Given the description of an element on the screen output the (x, y) to click on. 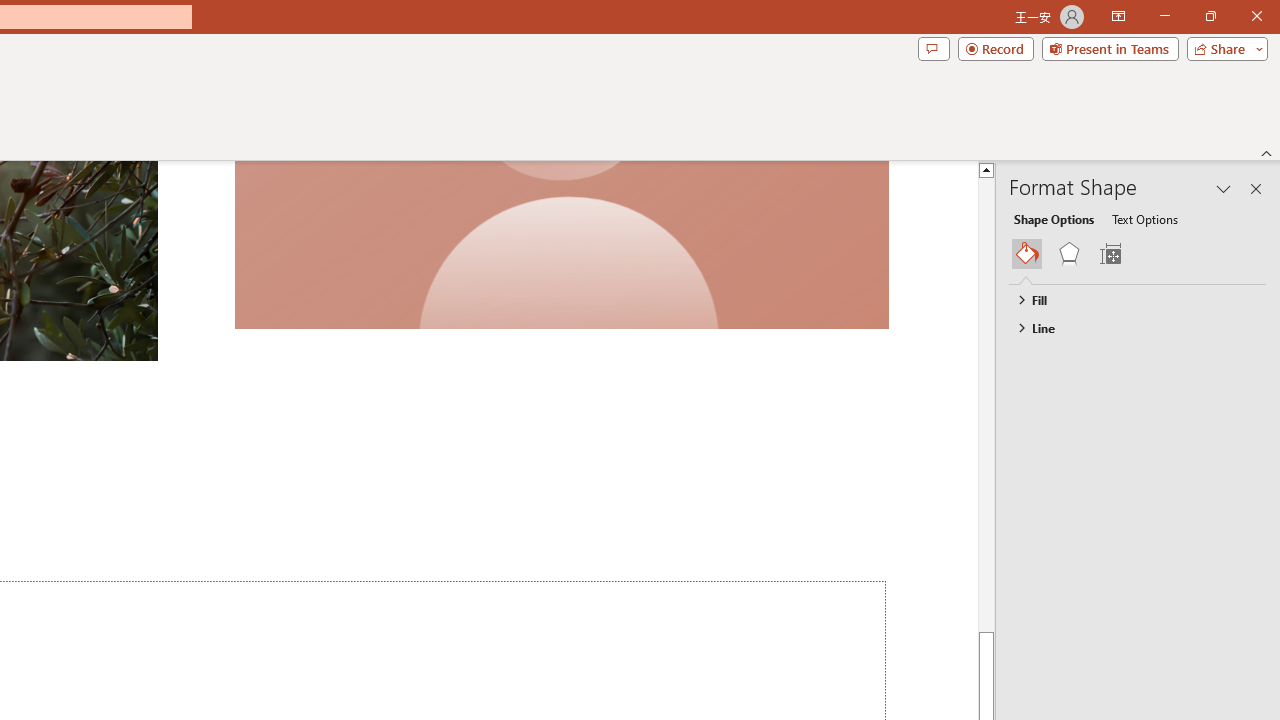
Shape Options (1054, 218)
Size & Properties (1110, 254)
Class: NetUIGalleryContainer (1138, 254)
Text Options (1144, 218)
Camera 7, No camera detected. (561, 245)
